Given the description of an element on the screen output the (x, y) to click on. 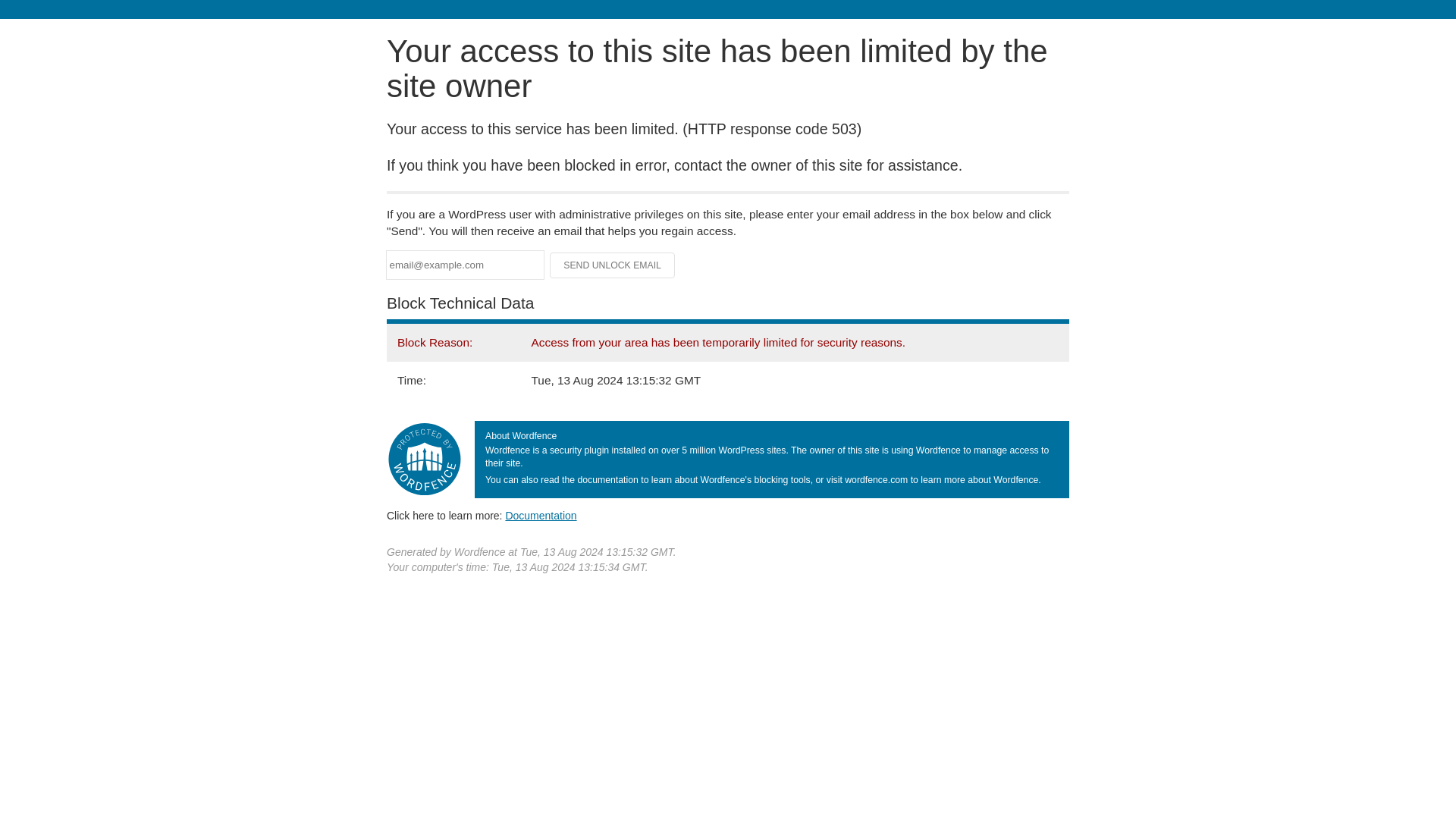
Documentation (540, 515)
Send Unlock Email (612, 265)
Send Unlock Email (612, 265)
